Given the description of an element on the screen output the (x, y) to click on. 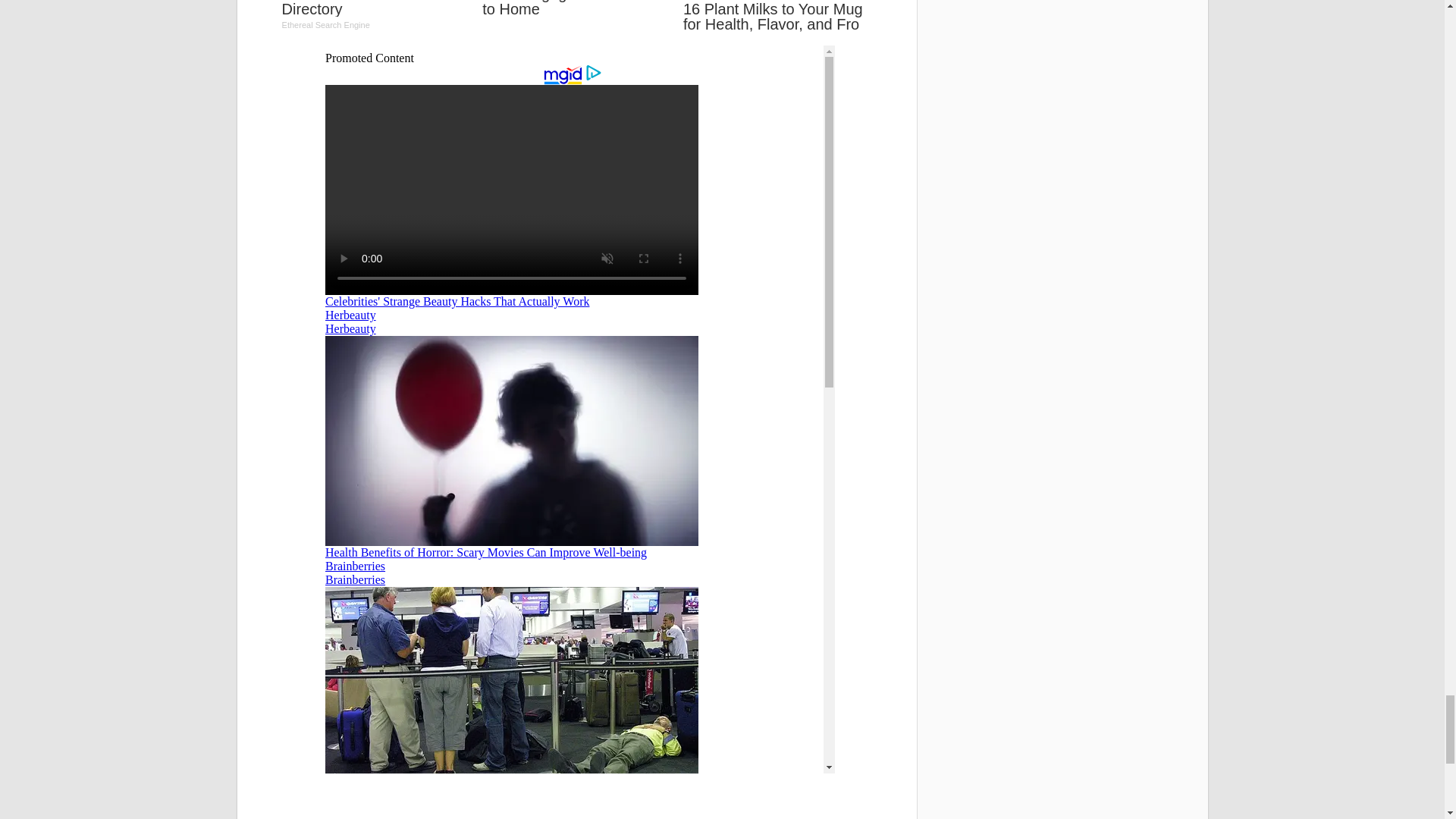
Get Mortgage Advice Close to Home (376, 20)
Add Your Site To This Directory (577, 13)
Get Mortgage Advice Close to Home (376, 20)
